Given the description of an element on the screen output the (x, y) to click on. 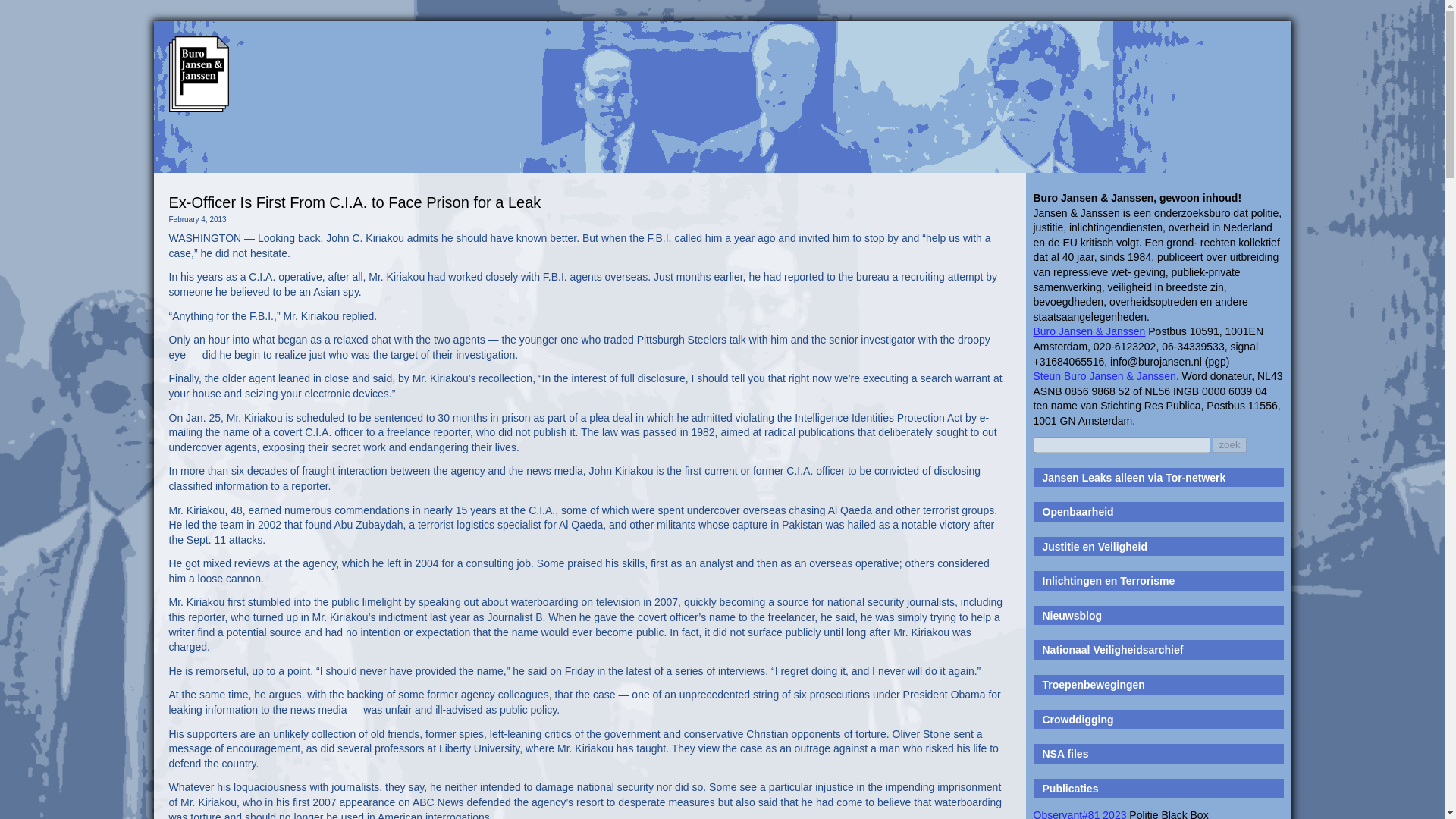
Inlichtingen en Terrorisme (1108, 580)
Nieuwsblog (1072, 615)
Nationaal Veiligheidsarchief (1112, 649)
Jansen Leaks alleen via Tor-netwerk (1133, 477)
zoek (1229, 444)
NSA files (1064, 753)
Crowddigging (1077, 719)
Justitie en Veiligheid (1094, 546)
Openbaarheid (1077, 511)
zoek (1229, 444)
